Given the description of an element on the screen output the (x, y) to click on. 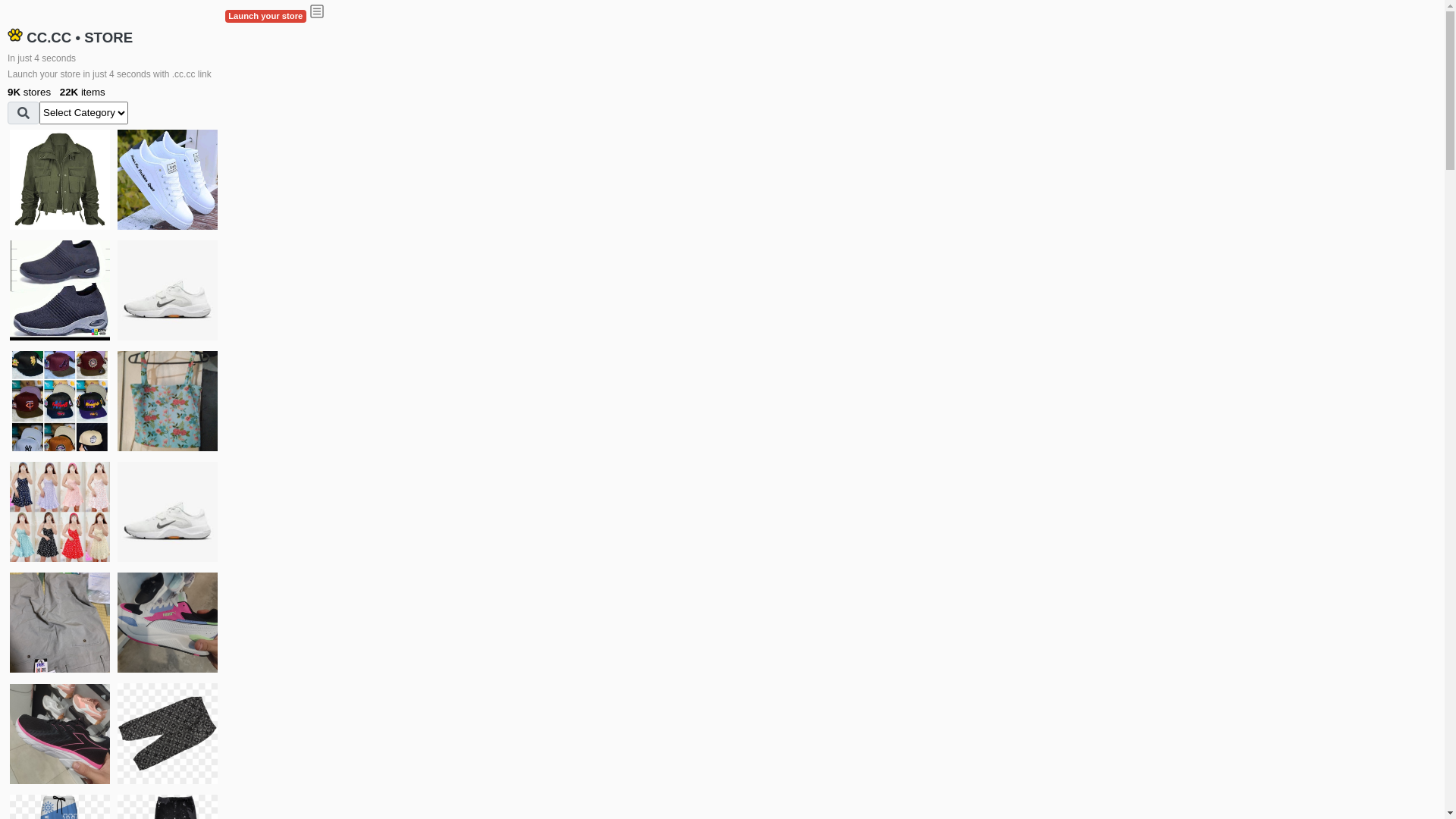
jacket Element type: hover (59, 179)
Things we need Element type: hover (59, 401)
white shoes Element type: hover (167, 179)
Zapatillas Element type: hover (59, 734)
Launch your store Element type: text (265, 15)
Dress/square nect top Element type: hover (59, 511)
Shoes Element type: hover (167, 511)
shoes for boys Element type: hover (59, 290)
Ukay cloth Element type: hover (167, 401)
Short pant Element type: hover (167, 733)
Zapatillas pumas Element type: hover (167, 622)
Shoes for boys Element type: hover (167, 290)
